Given the description of an element on the screen output the (x, y) to click on. 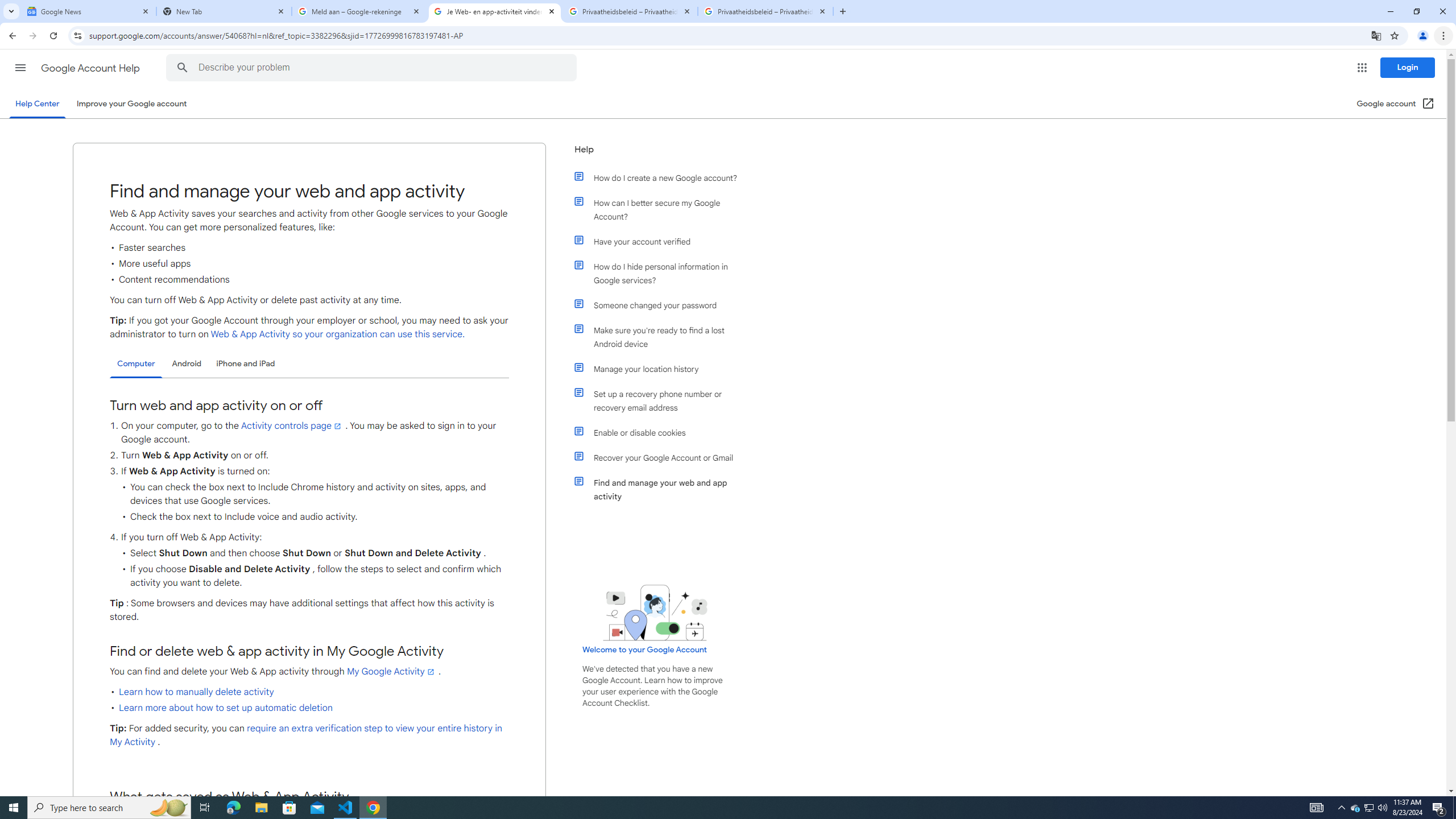
Set up a recovery phone number or recovery email address (661, 400)
Have your account verified (661, 241)
Search the Help Center (181, 67)
Describe your problem (373, 67)
Login (1407, 67)
Android (186, 363)
Improve your Google account (131, 103)
